Given the description of an element on the screen output the (x, y) to click on. 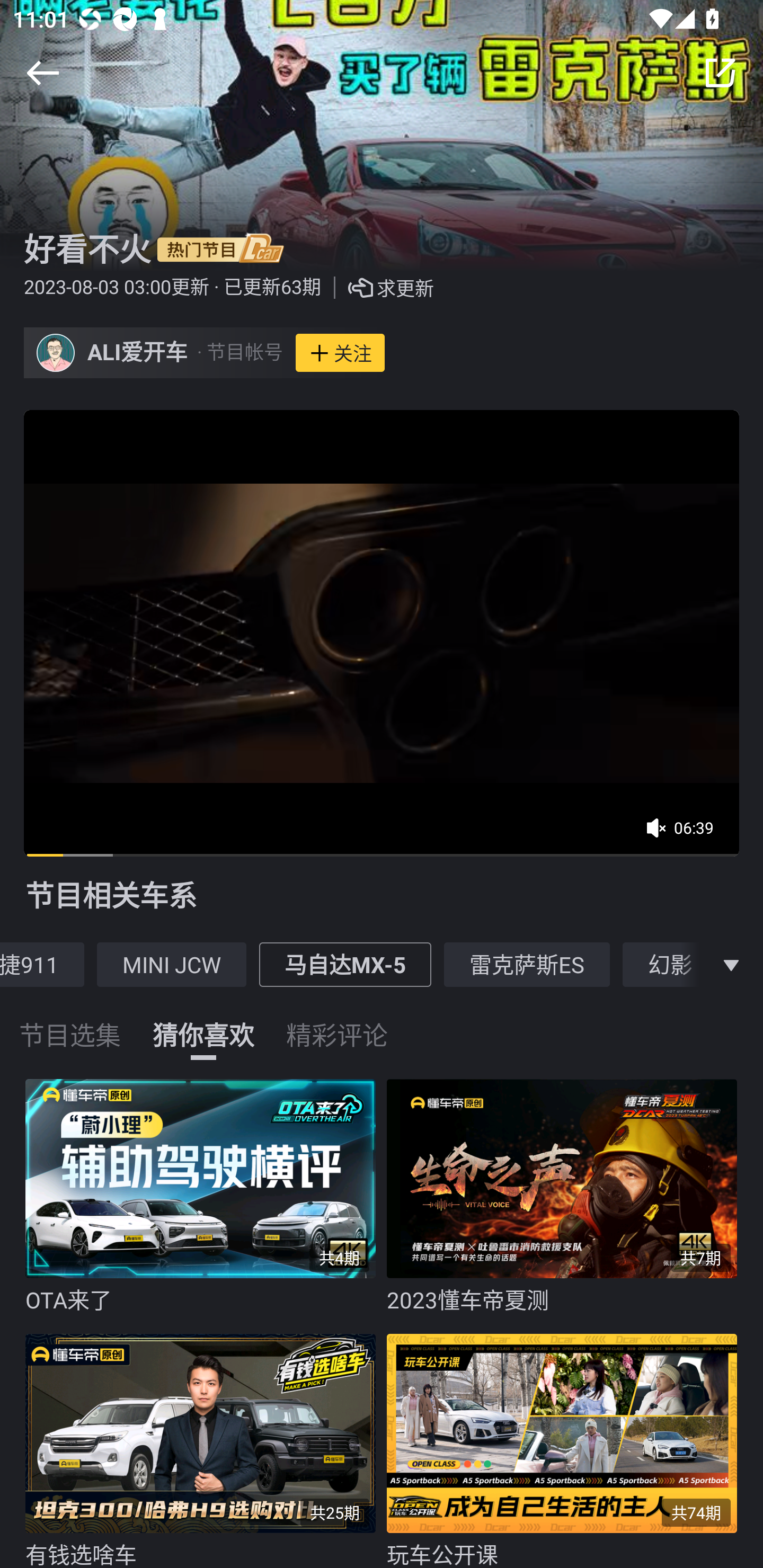
 (42, 72)
 (720, 72)
 求更新 (377, 287)
ALI爱开车 (137, 352)
· 节目帐号 (239, 352)
 关注 (340, 352)
06:39 (685, 834)
 (731, 963)
MINI JCW (171, 964)
马自达MX-5 (345, 964)
雷克萨斯ES (526, 964)
幻影 (669, 964)
节目选集 (69, 1023)
猜你喜欢 (203, 1023)
精彩评论 (336, 1023)
共4期 OTA来了 (205, 1196)
共7期 2023懂车帝夏测 (567, 1196)
共25期 有钱选啥车 (205, 1446)
共74期 玩车公开课 (567, 1446)
